Given the description of an element on the screen output the (x, y) to click on. 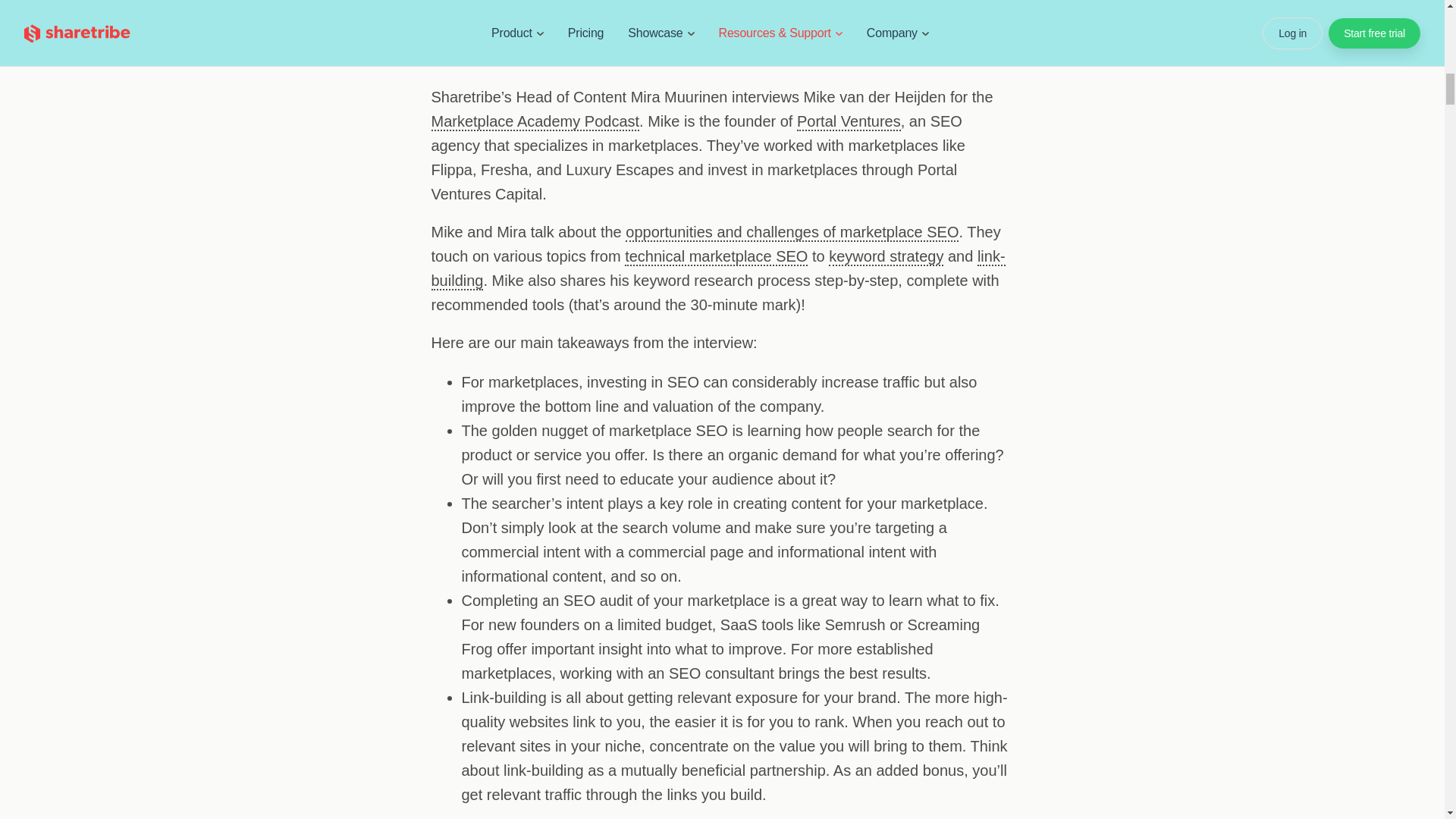
Portal Ventures (848, 122)
opportunities and challenges of marketplace SEO (792, 232)
keyword strategy (885, 257)
technical marketplace SEO (716, 257)
link-building (717, 269)
Marketplace Academy Podcast (534, 122)
